Given the description of an element on the screen output the (x, y) to click on. 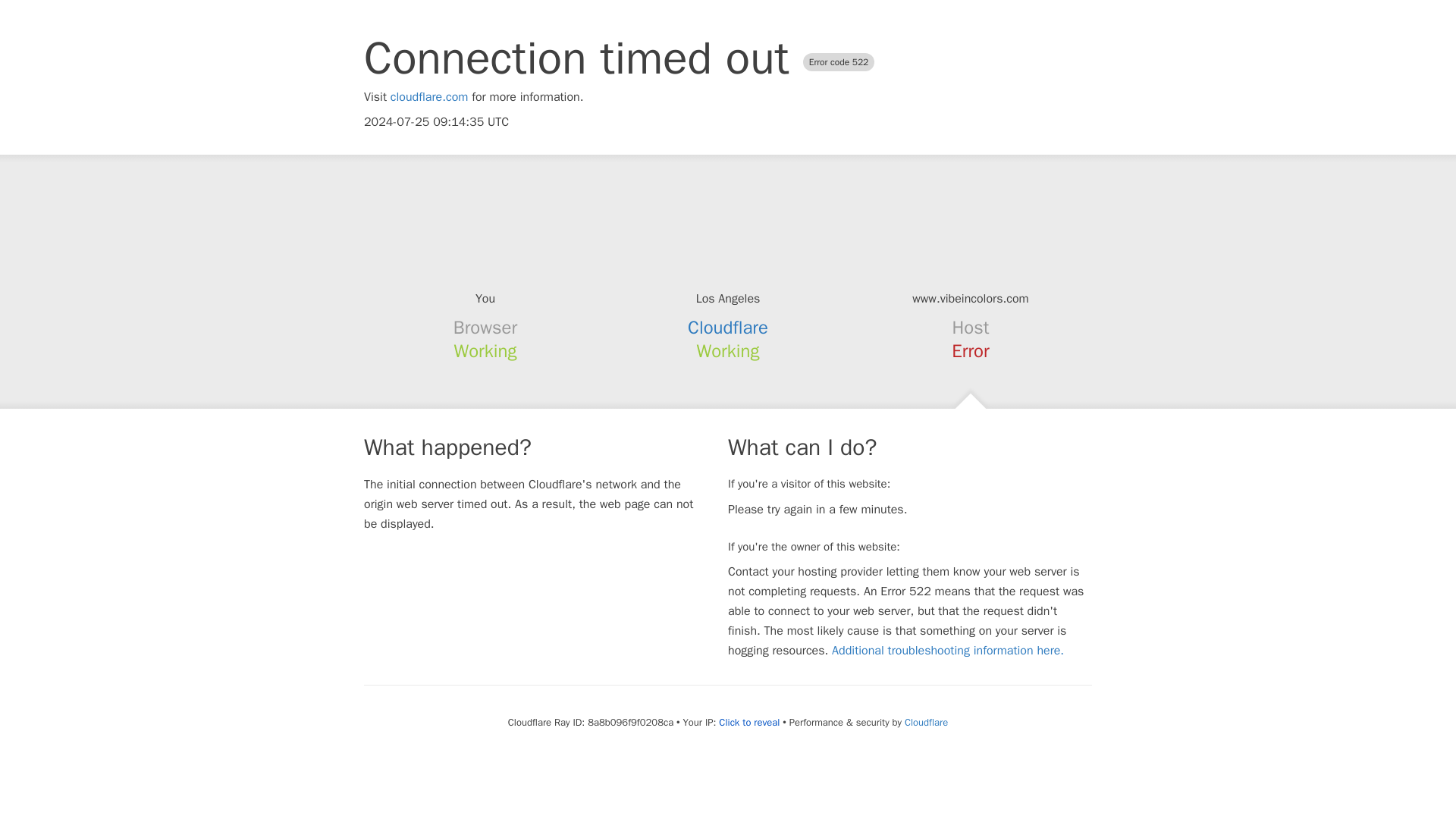
Cloudflare (727, 327)
cloudflare.com (429, 96)
Additional troubleshooting information here. (947, 650)
Cloudflare (925, 721)
Click to reveal (748, 722)
